Given the description of an element on the screen output the (x, y) to click on. 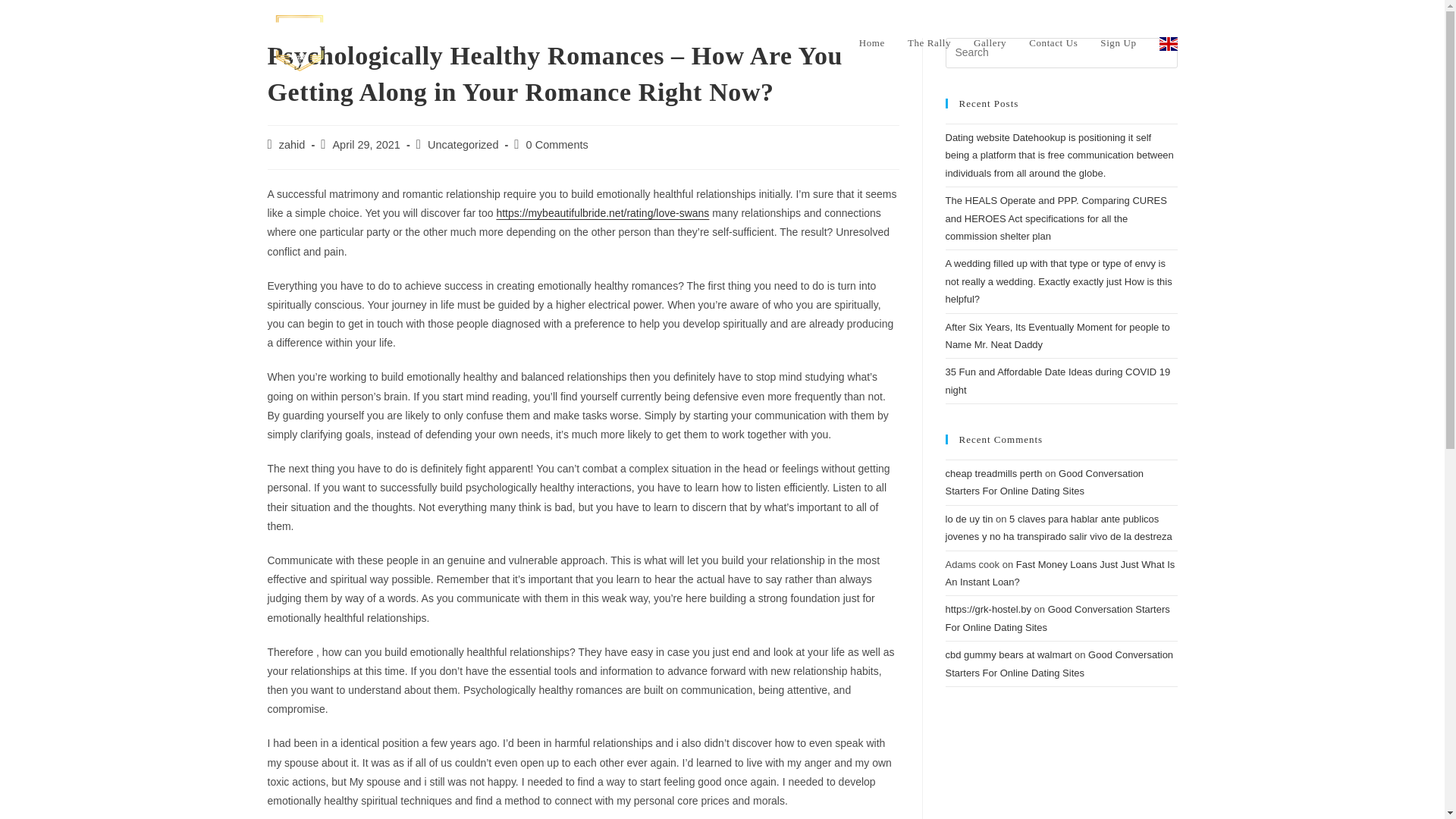
Fast Money Loans Just Just What Is An Instant Loan? (1059, 573)
cheap treadmills perth (993, 473)
The Rally (929, 43)
cbd gummy bears at walmart (1007, 654)
Good Conversation Starters For Online Dating Sites (1056, 617)
Sign Up (1118, 43)
lo de uy tin (968, 518)
35 Fun and Affordable Date Ideas during COVID 19 night (1057, 380)
Posts by zahid (292, 144)
Gallery (989, 43)
0 Comments (556, 144)
